Given the description of an element on the screen output the (x, y) to click on. 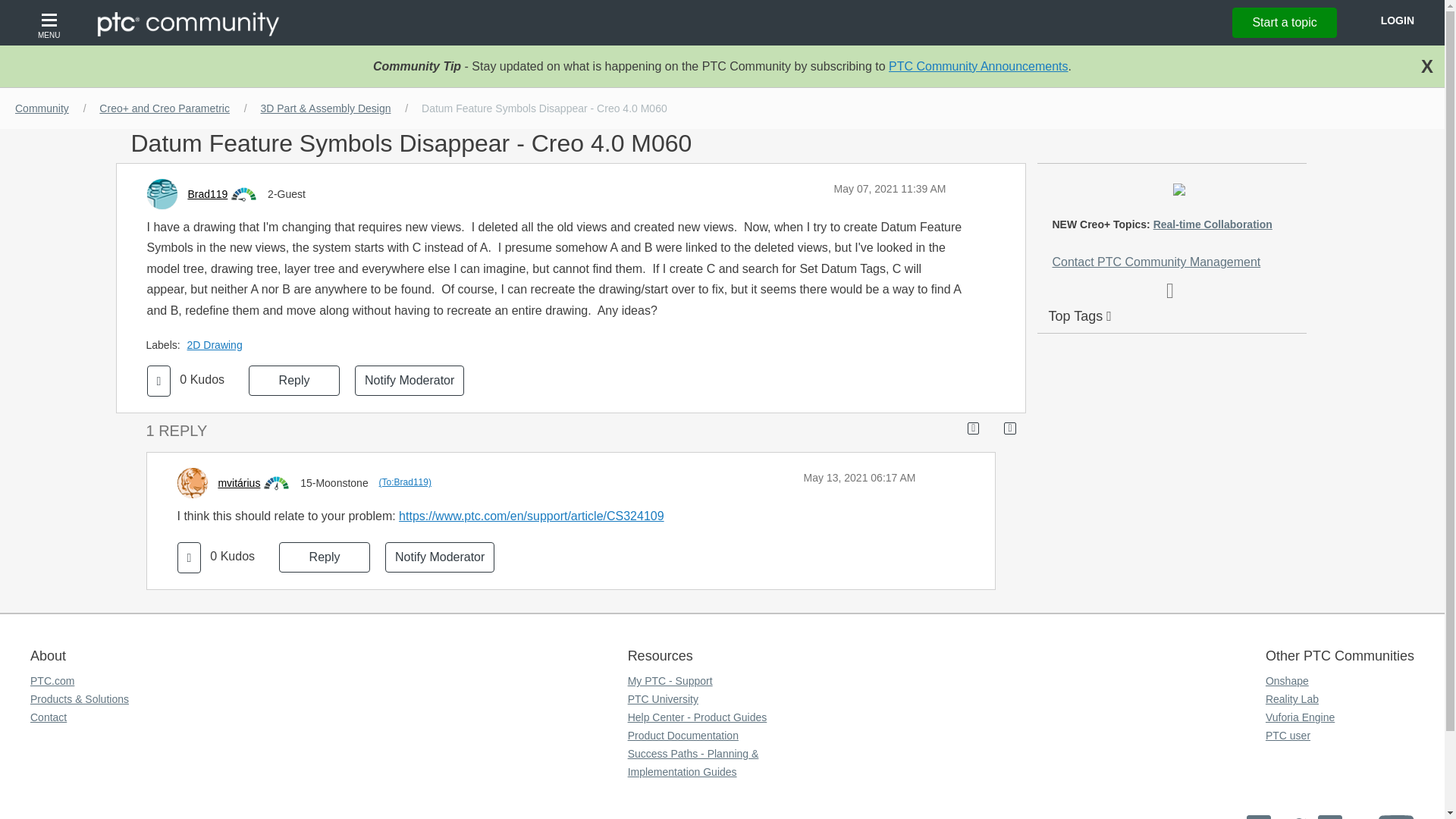
2D Drawing (218, 344)
MENU (50, 22)
Reply (293, 380)
LOGIN (1396, 20)
PTC Community Announcements (978, 65)
Start a topic (1283, 22)
Brad119 (207, 193)
Notify Moderator (409, 380)
Community (42, 108)
